Given the description of an element on the screen output the (x, y) to click on. 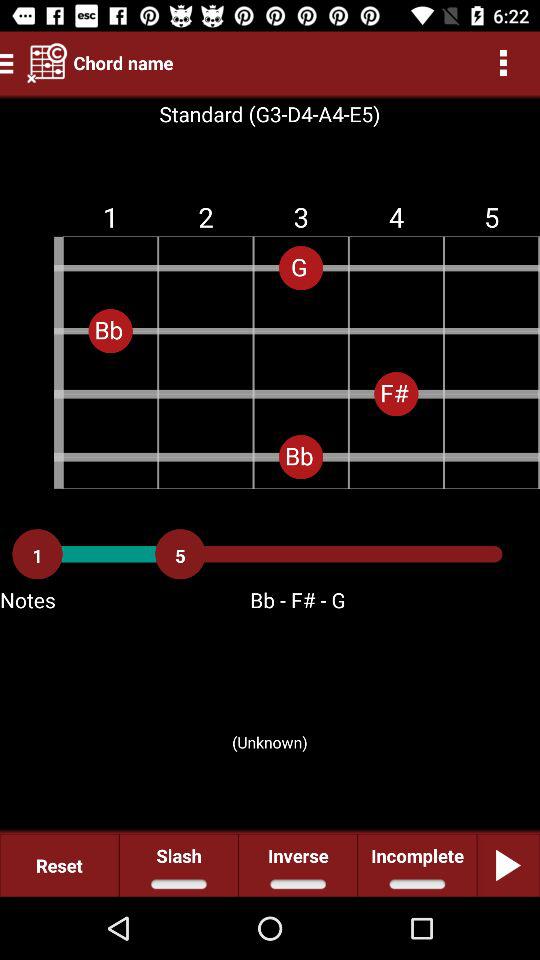
turn on icon next to the inverse icon (178, 864)
